Given the description of an element on the screen output the (x, y) to click on. 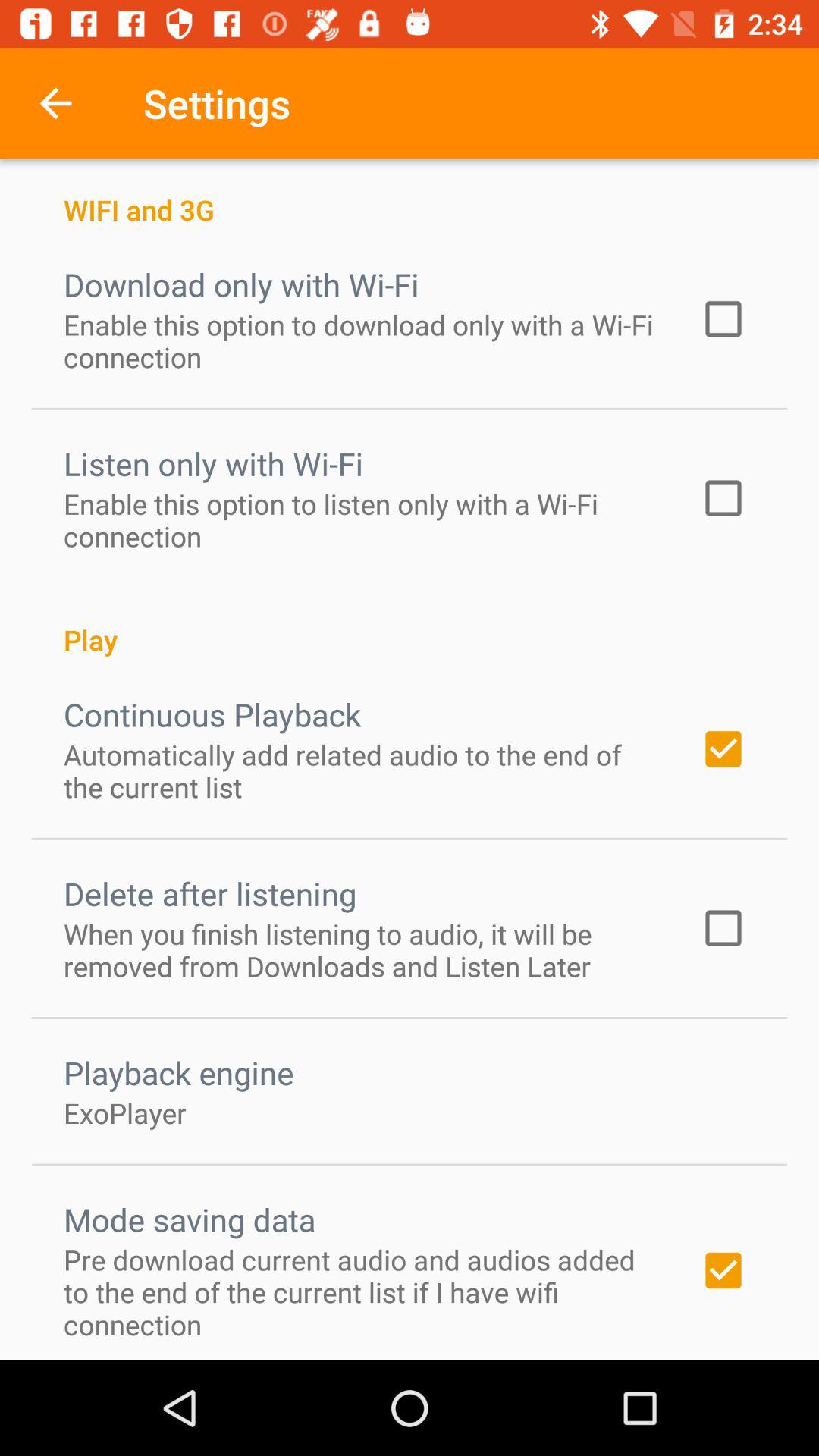
turn off the icon above wifi and 3g (55, 103)
